Given the description of an element on the screen output the (x, y) to click on. 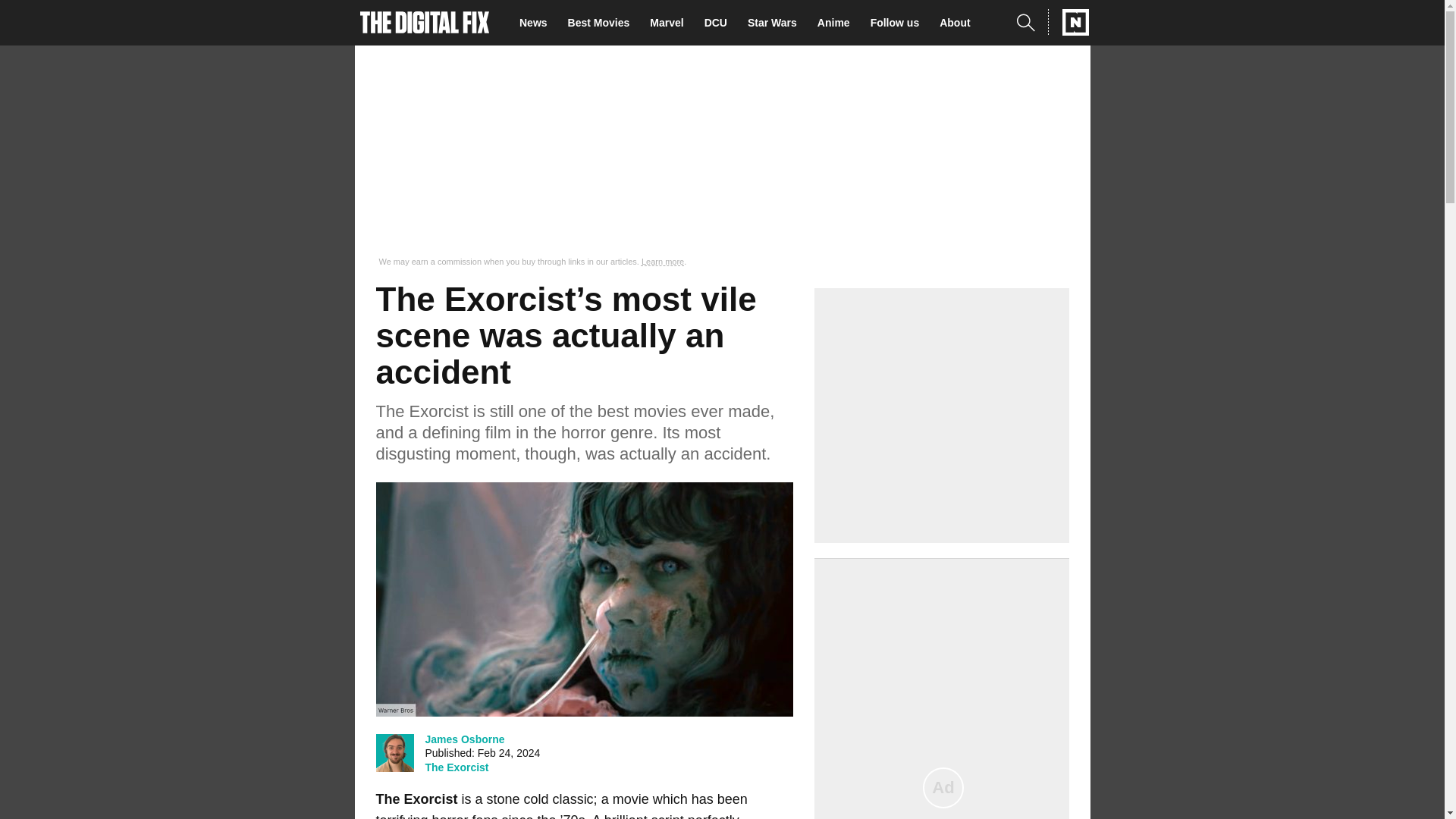
The Exorcist (456, 767)
Network N Media (1068, 22)
Follow us (899, 22)
Marvel Cinematic Universe News (671, 22)
Anime News (837, 22)
Star Wars (777, 22)
Star Wars News (777, 22)
Anime (837, 22)
James Osborne (464, 739)
The Digital Fix (424, 22)
